Given the description of an element on the screen output the (x, y) to click on. 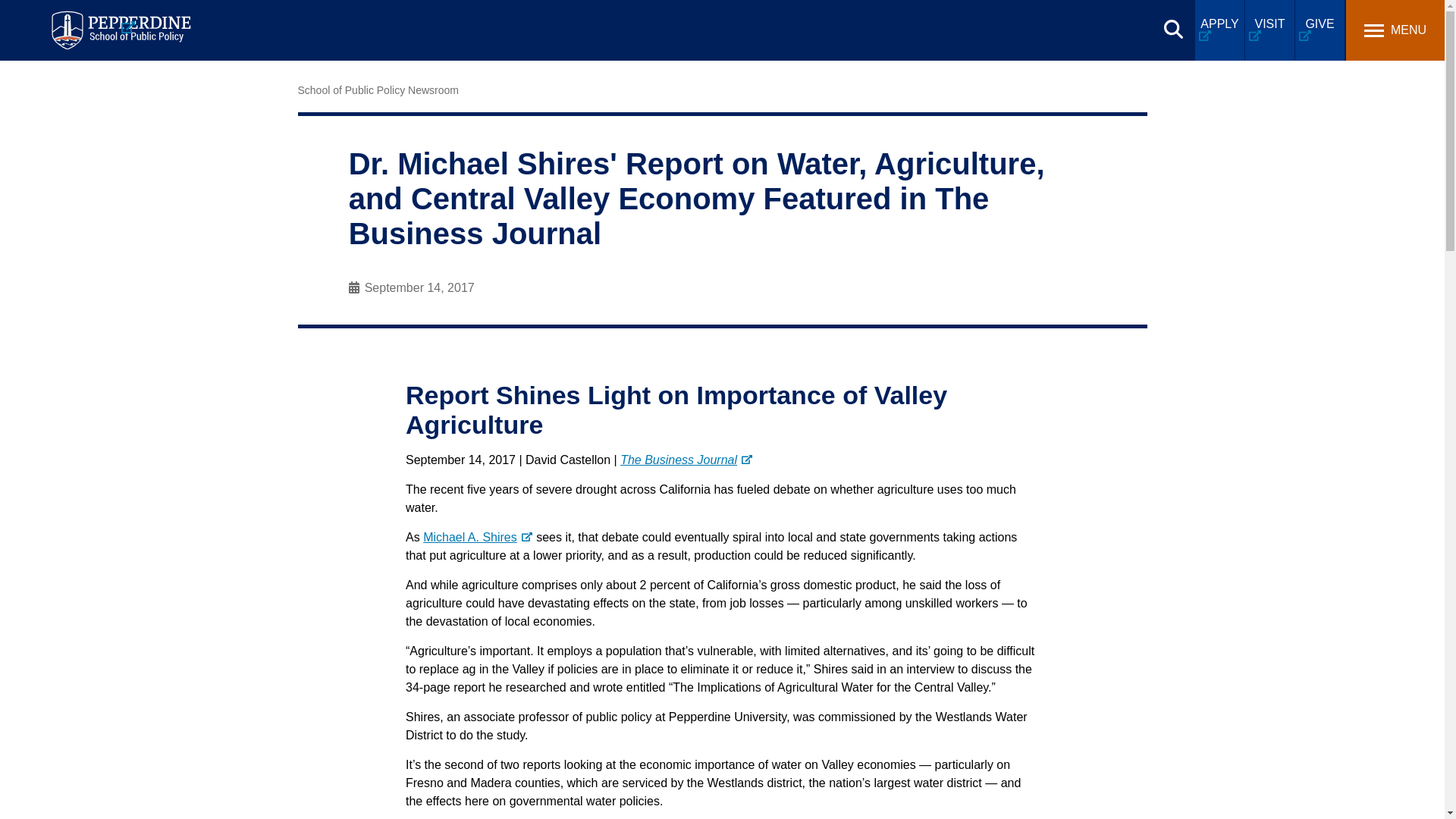
open search (1173, 28)
Submit (390, 19)
Link to External Site (686, 459)
